Given the description of an element on the screen output the (x, y) to click on. 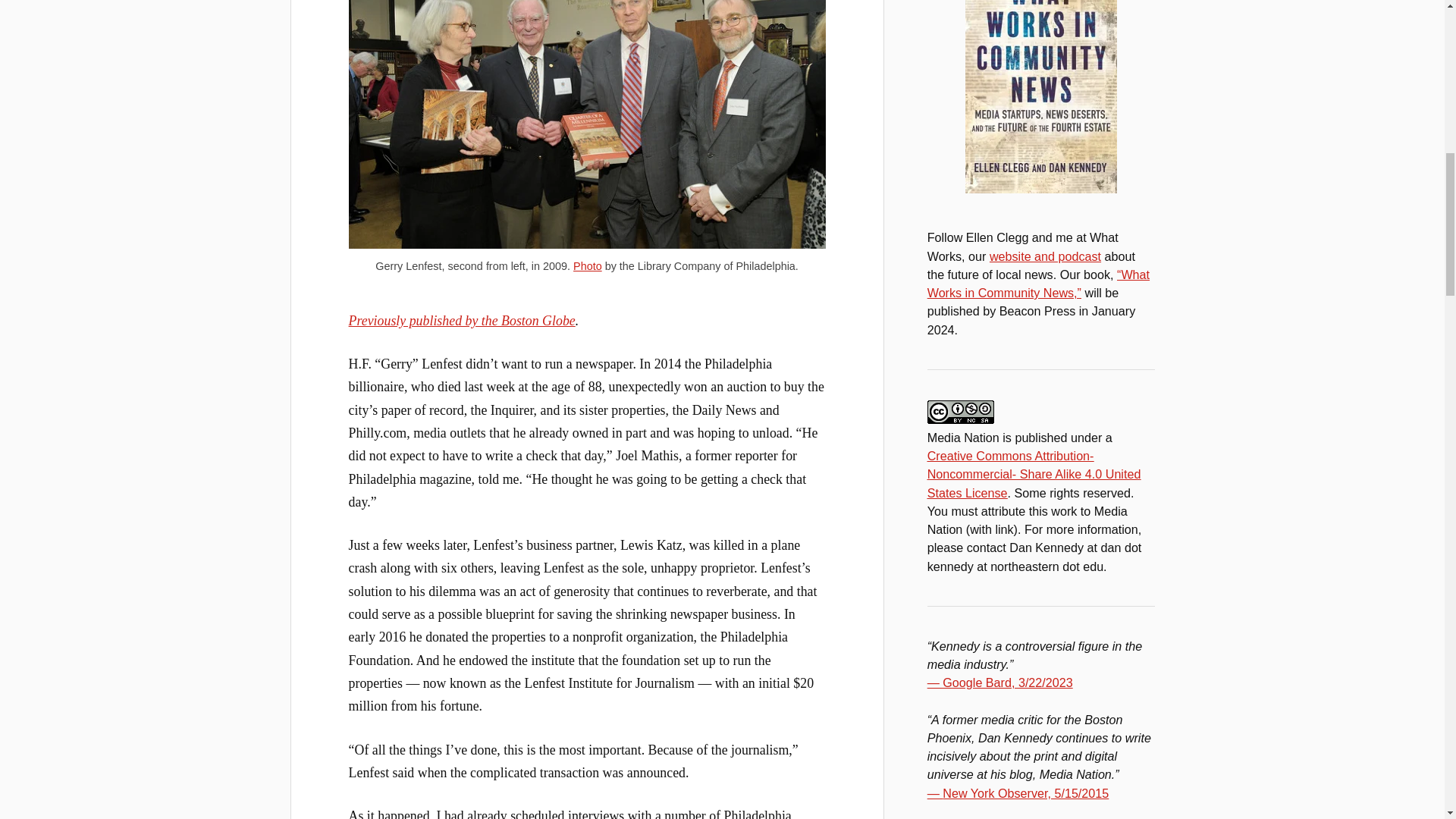
Photo (587, 265)
